Given the description of an element on the screen output the (x, y) to click on. 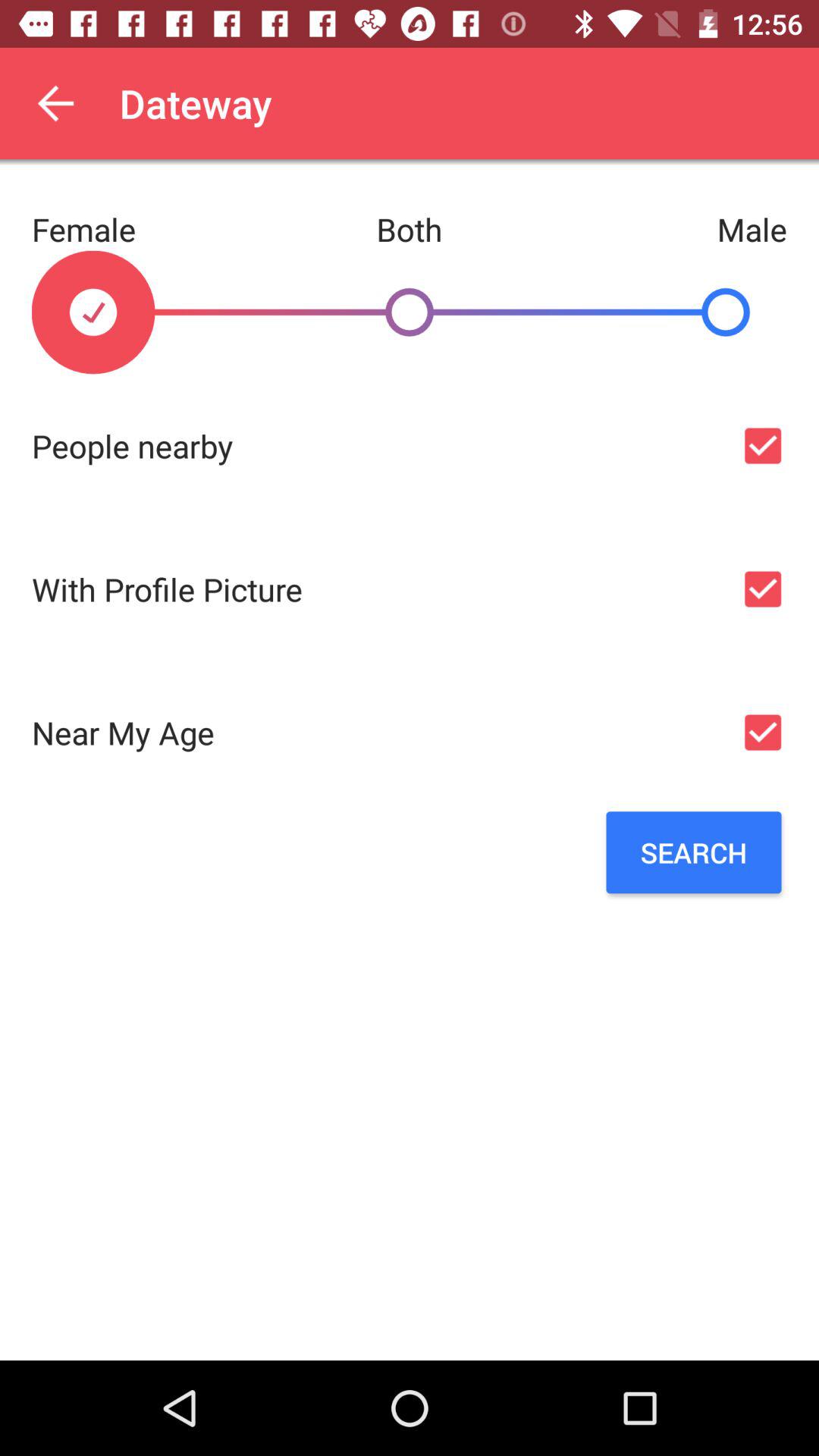
toggle near my age option (762, 732)
